Given the description of an element on the screen output the (x, y) to click on. 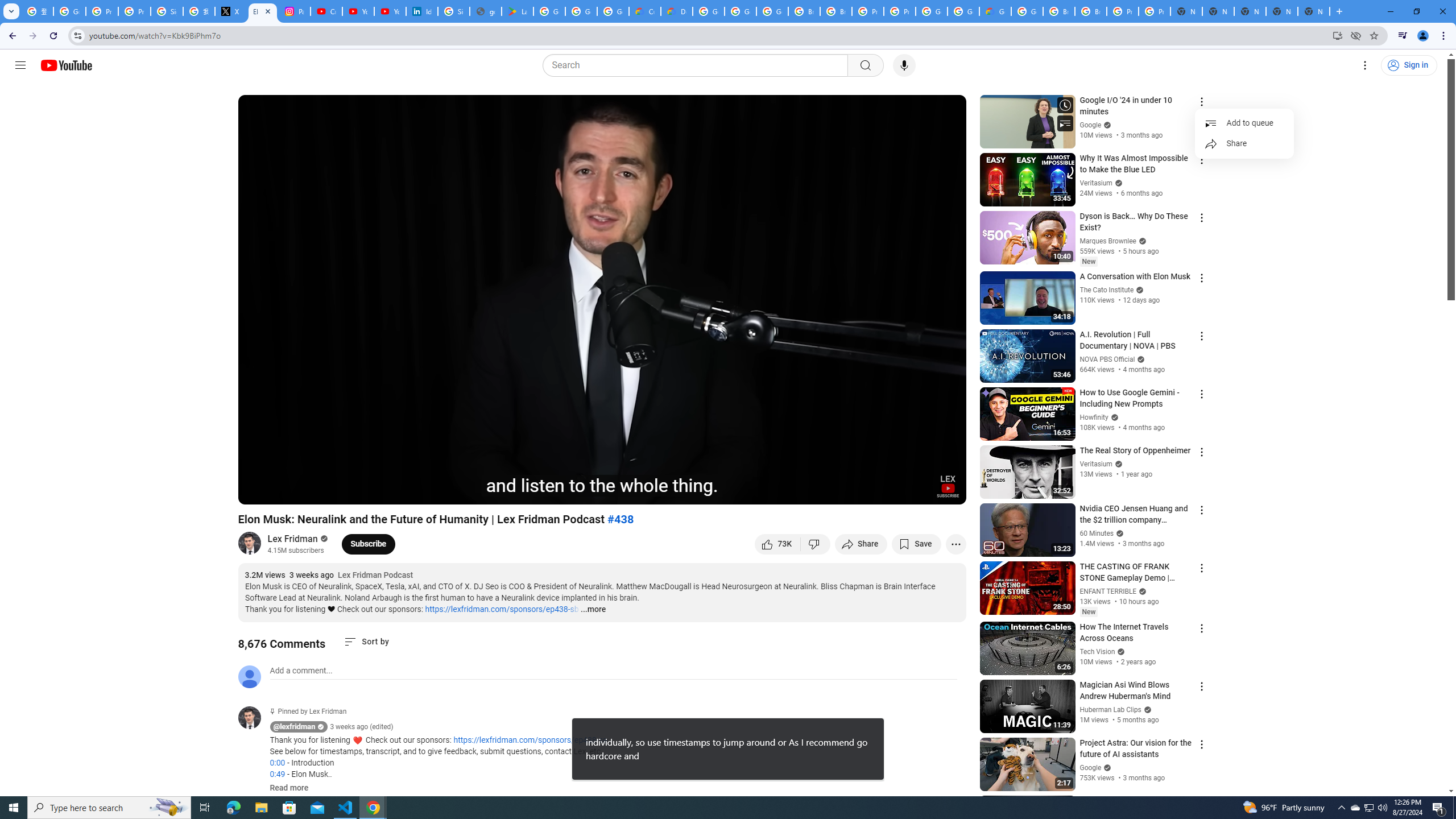
0:00 (277, 763)
Privacy Help Center - Policies Help (101, 11)
Identity verification via Persona | LinkedIn Help (421, 11)
Customer Care | Google Cloud (644, 11)
